Given the description of an element on the screen output the (x, y) to click on. 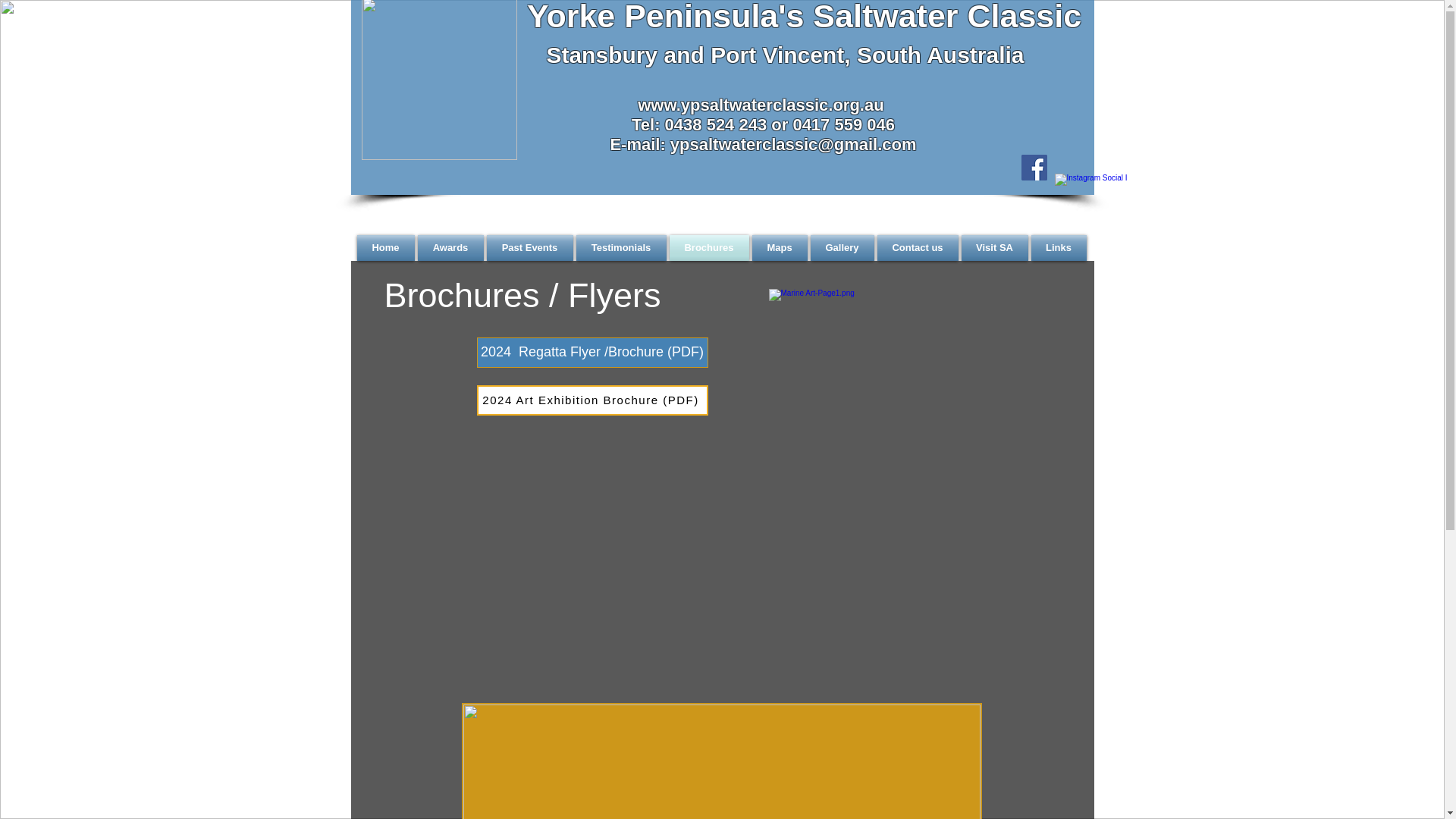
2024 Art Exhibition Brochure (PDF) Element type: text (591, 400)
Visit SA Element type: text (994, 247)
Testimonials Element type: text (621, 247)
Maps Element type: text (779, 247)
Past Events Element type: text (529, 247)
Saltwater Classic 2024 Art Competition p Element type: hover (904, 480)
www.ypsaltwaterclassic.org.au Element type: text (760, 104)
2024  Regatta Flyer /Brochure (PDF) Element type: text (591, 351)
Links Element type: text (1057, 247)
Home Element type: text (385, 247)
Brochures Element type: text (708, 247)
Contact us Element type: text (917, 247)
Awards Element type: text (449, 247)
Gallery Element type: text (841, 247)
